Given the description of an element on the screen output the (x, y) to click on. 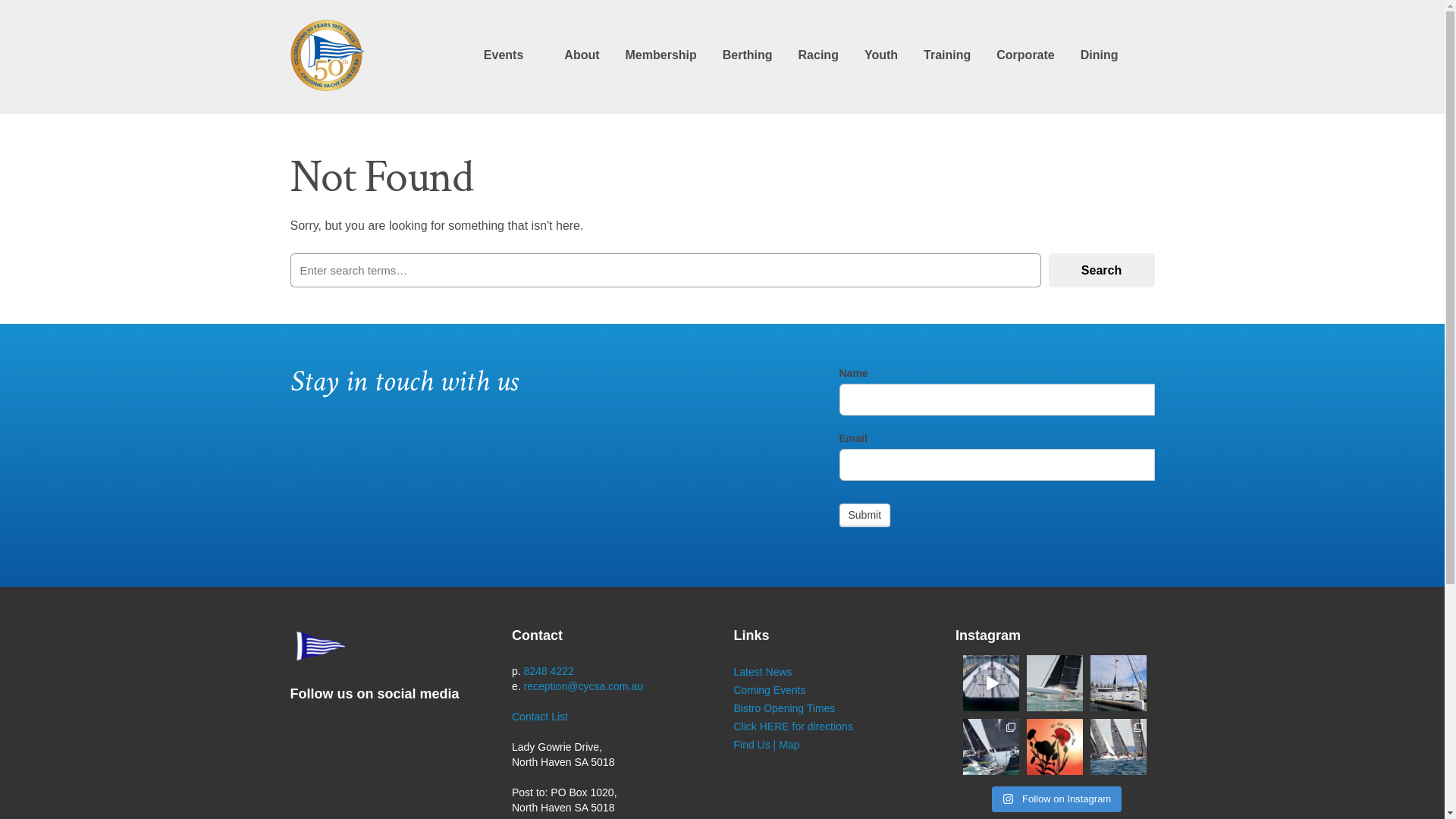
reception@cycsa.com.au Element type: text (583, 686)
Racing Element type: text (818, 55)
Search Element type: text (1101, 270)
Bistro Opening Times Element type: text (784, 708)
Contact List Element type: text (539, 716)
Corporate Element type: text (1025, 55)
Follow on Instagram Element type: text (1056, 799)
Berthing Element type: text (747, 55)
Coming Events Element type: text (770, 690)
Training Element type: text (946, 55)
Submit Element type: text (864, 514)
8248 4222 Element type: text (549, 671)
Latest News Element type: text (763, 671)
Youth Element type: text (880, 55)
About Element type: text (581, 55)
Click HERE for directions Element type: text (793, 726)
Events Element type: text (503, 55)
Dining Element type: text (1099, 55)
Find Us | Map Element type: text (767, 744)
Membership Element type: text (660, 55)
